Given the description of an element on the screen output the (x, y) to click on. 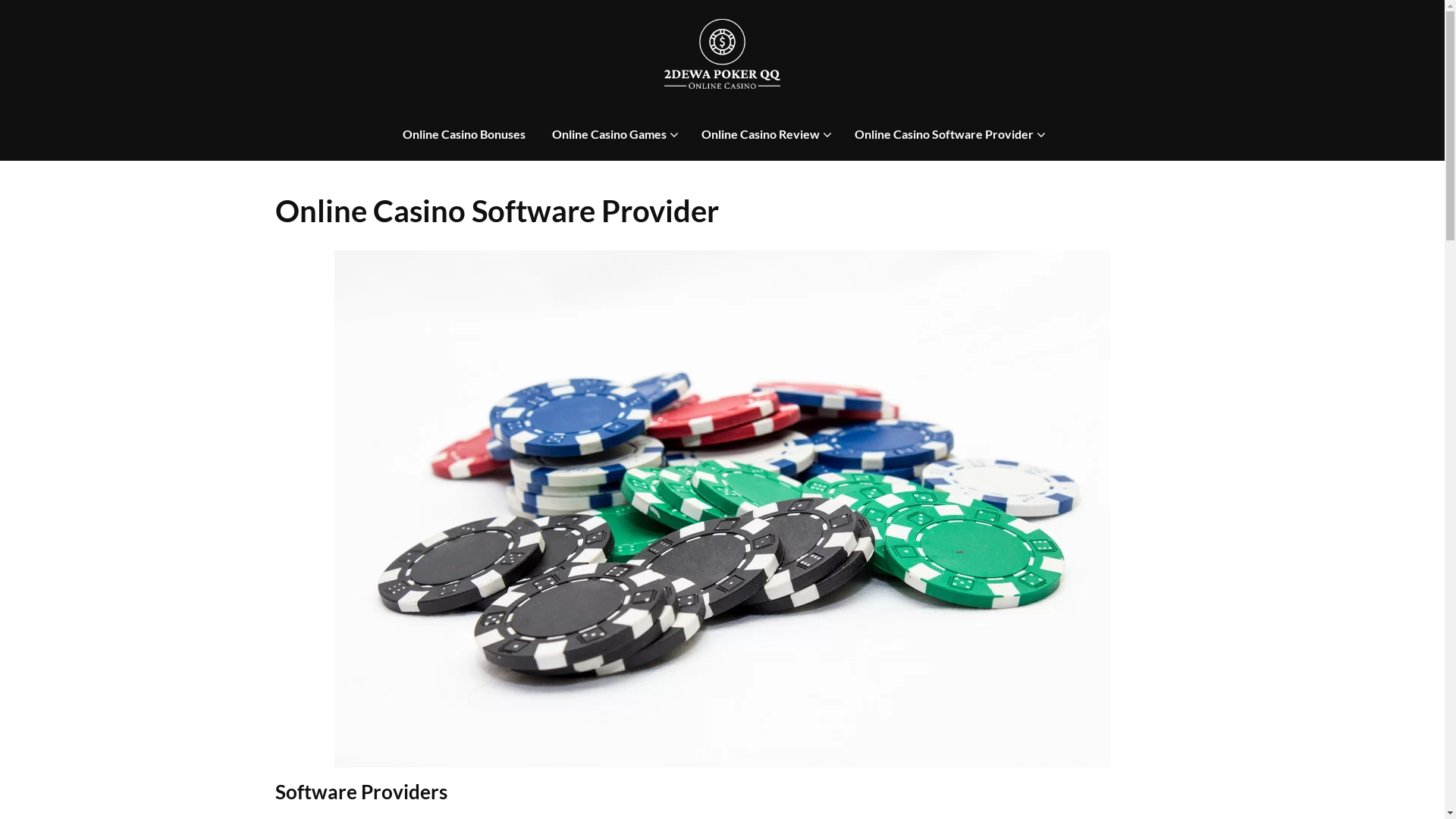
Online Casino Software Provider Element type: text (943, 134)
Online Casino Bonuses Element type: text (463, 134)
Online Casino Review Element type: text (760, 134)
Online Casino Games Element type: text (608, 134)
